Given the description of an element on the screen output the (x, y) to click on. 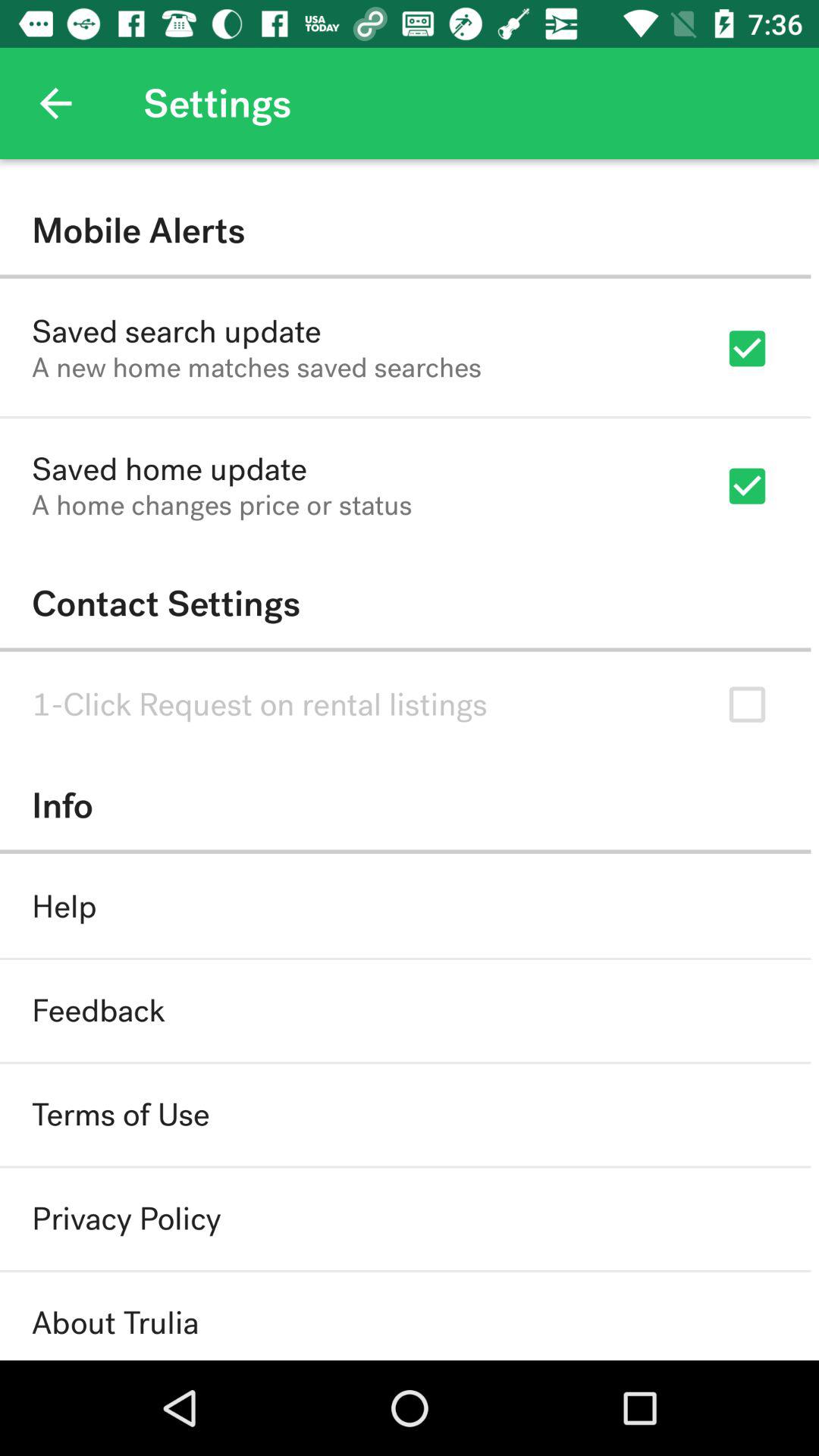
launch item above saved search update (405, 230)
